Given the description of an element on the screen output the (x, y) to click on. 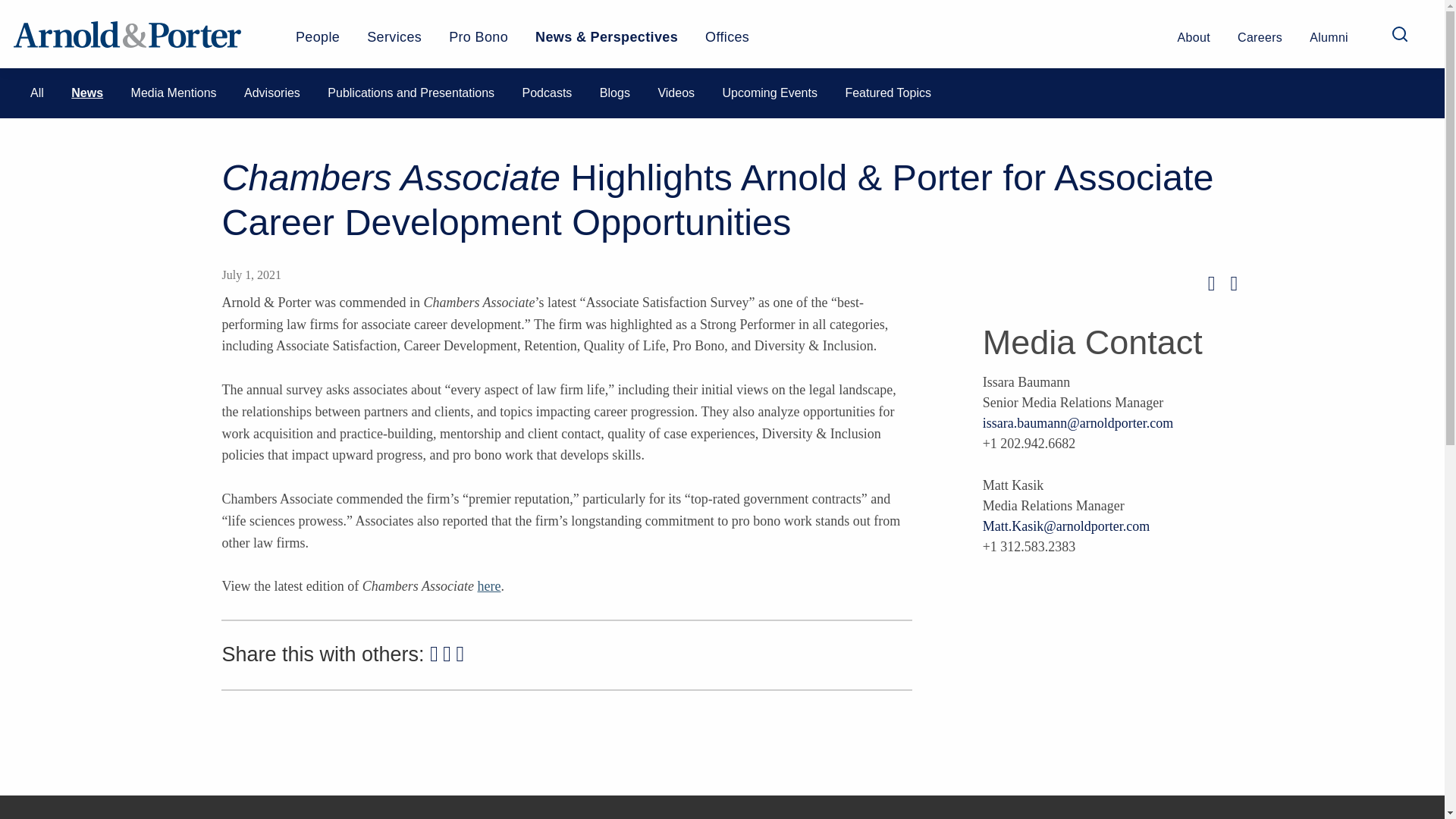
here (488, 585)
Offices (726, 43)
Services (394, 43)
Podcasts (547, 93)
People (317, 43)
About (1193, 43)
Videos (676, 93)
Careers (1259, 43)
Pro Bono (478, 43)
Advisories (271, 93)
Featured Topics (887, 93)
Media Mentions (173, 93)
Upcoming Events (769, 93)
Publications and Presentations (411, 93)
Blogs (614, 93)
